Given the description of an element on the screen output the (x, y) to click on. 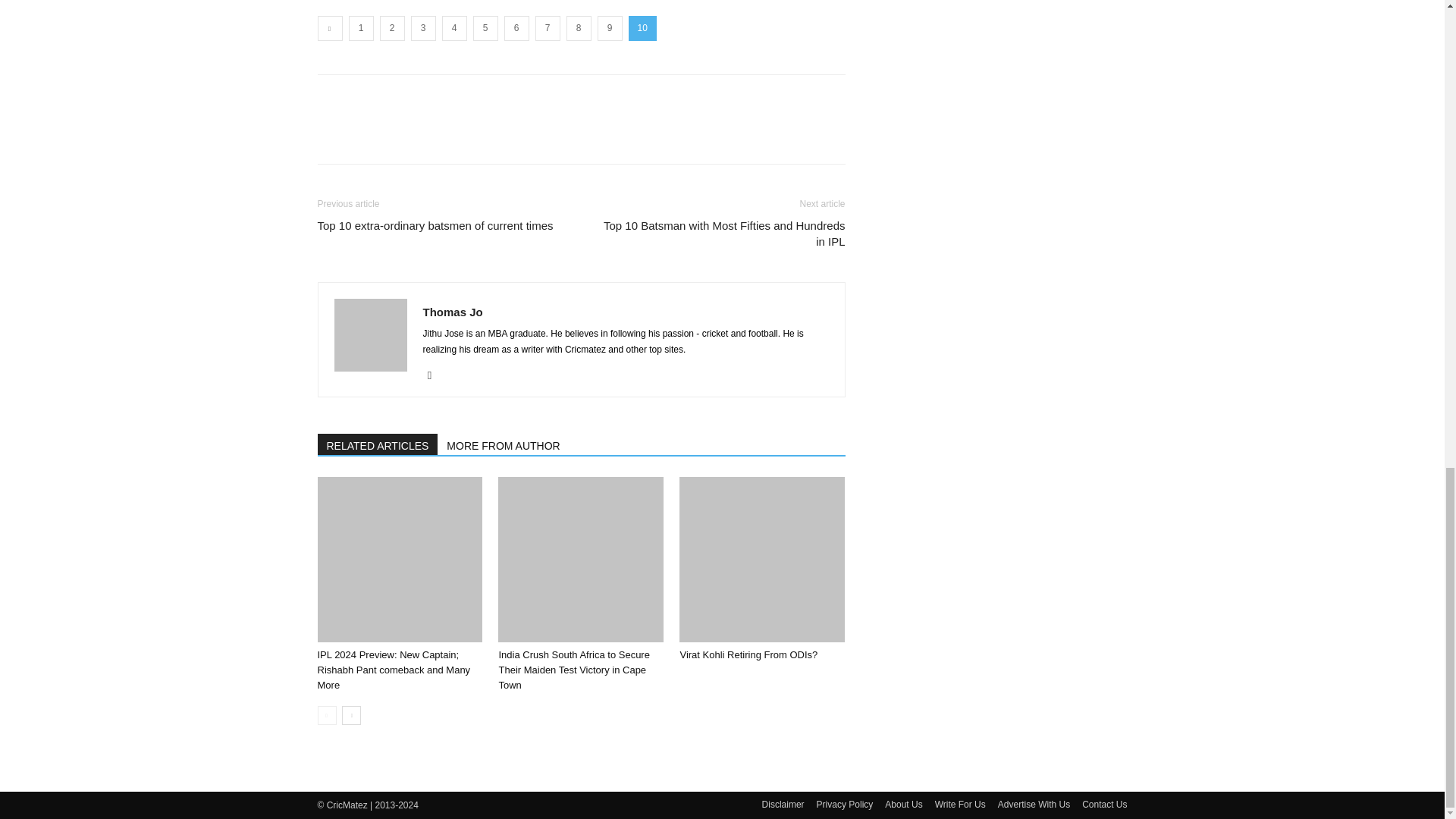
1 (361, 27)
2 (391, 27)
bottomFacebookLike (430, 98)
4 (453, 27)
3 (422, 27)
